Given the description of an element on the screen output the (x, y) to click on. 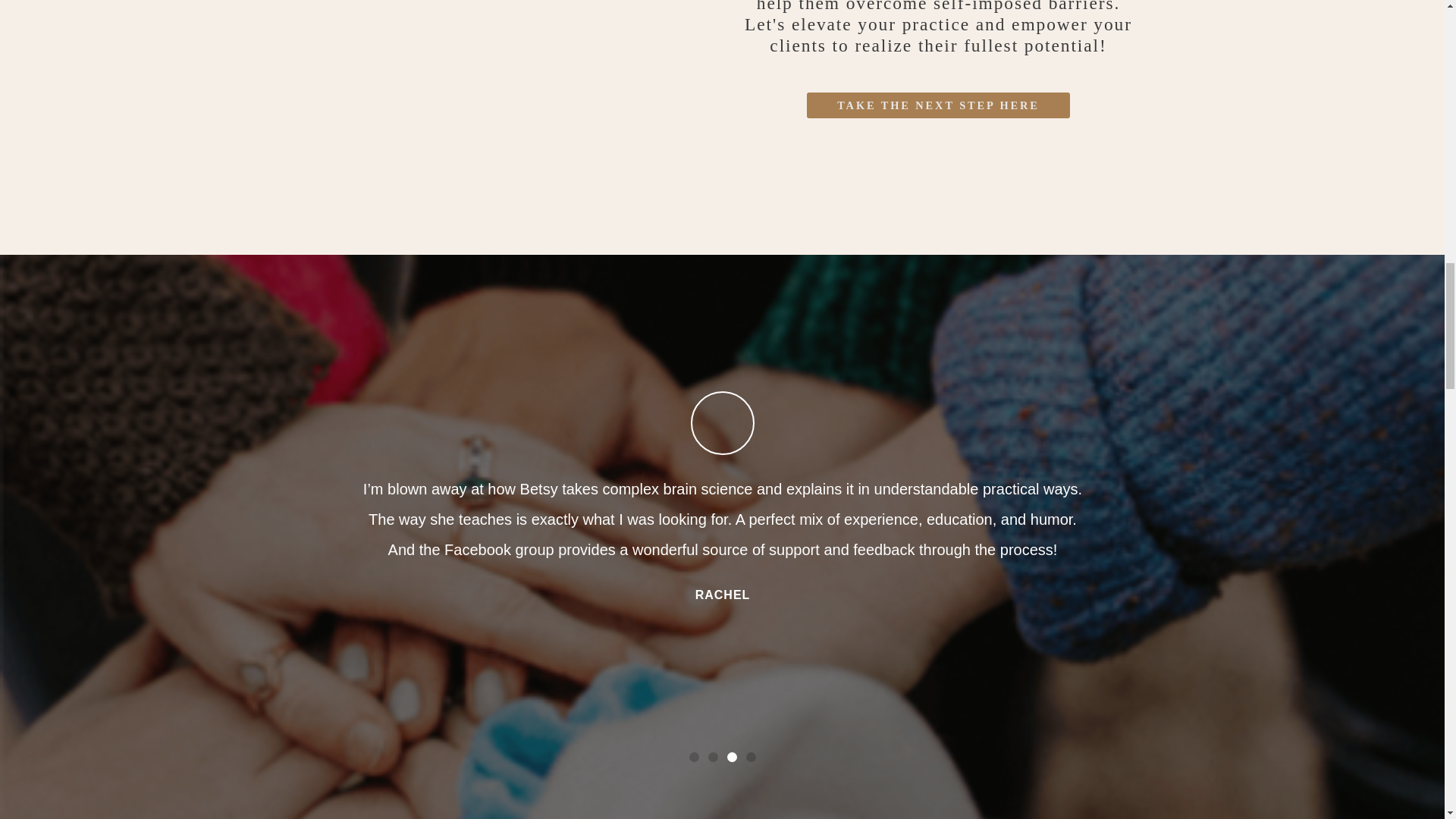
TAKE THE NEXT STEP HERE (938, 104)
